Given the description of an element on the screen output the (x, y) to click on. 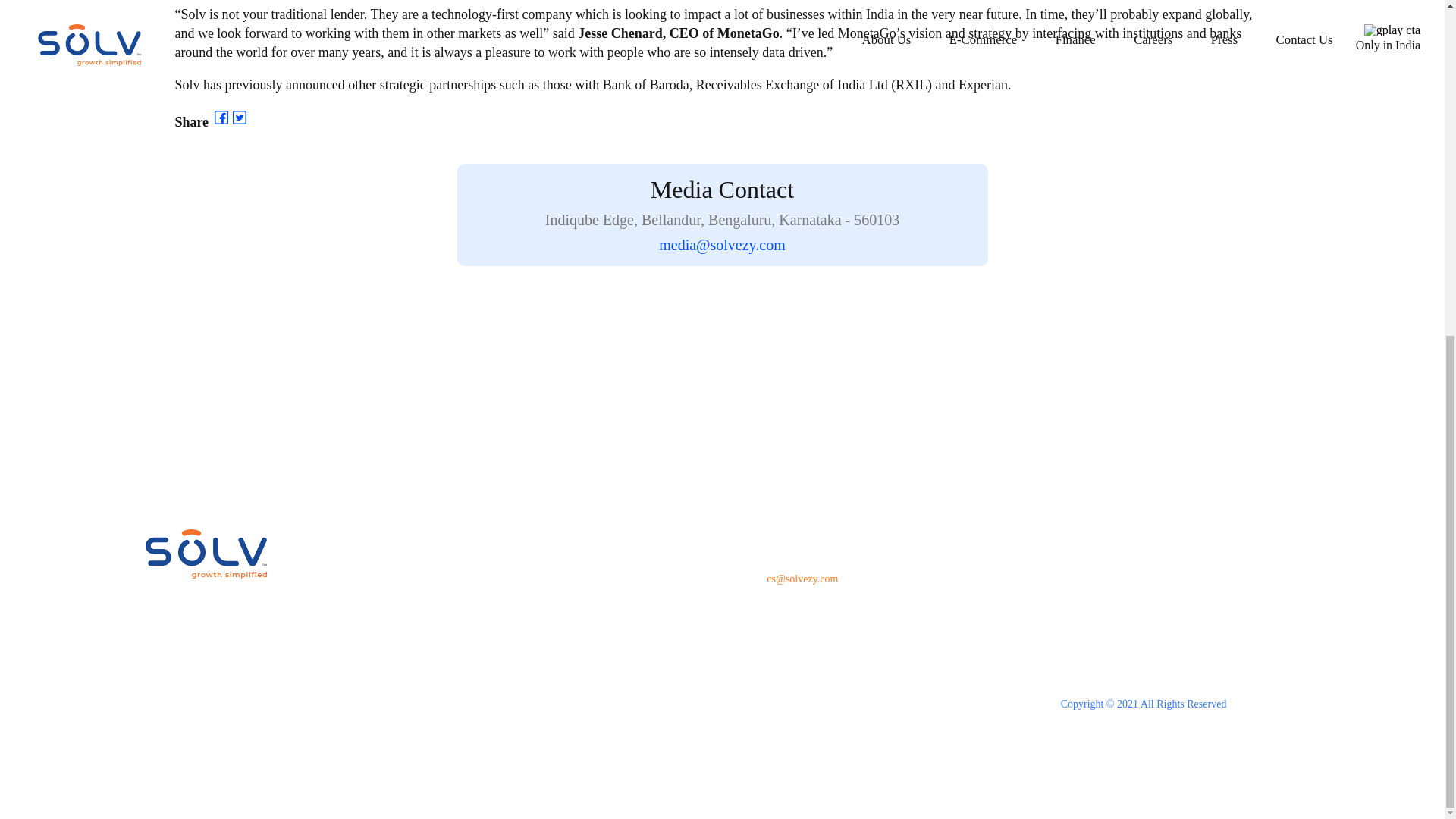
Information Security Policy (1128, 640)
Finance (559, 596)
Terms Of Services (1106, 591)
Communications (579, 690)
About Us (564, 534)
POSH Policy (1093, 663)
Careers (559, 627)
Privacy Policy (1097, 615)
E-Commerce (571, 565)
Press (554, 659)
